Given the description of an element on the screen output the (x, y) to click on. 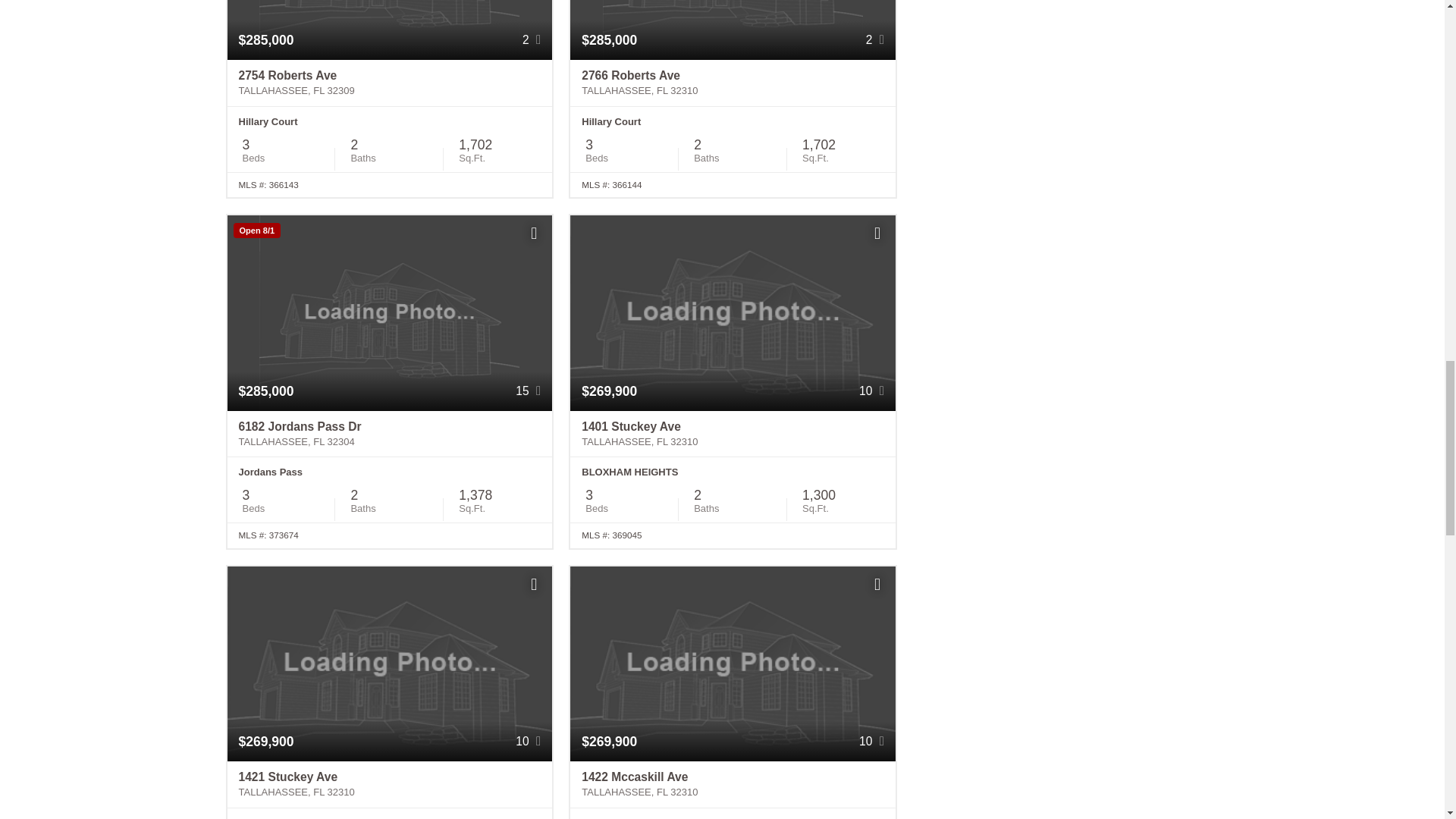
2754 Roberts Ave Tallahassee,  FL 32309 (390, 83)
